Given the description of an element on the screen output the (x, y) to click on. 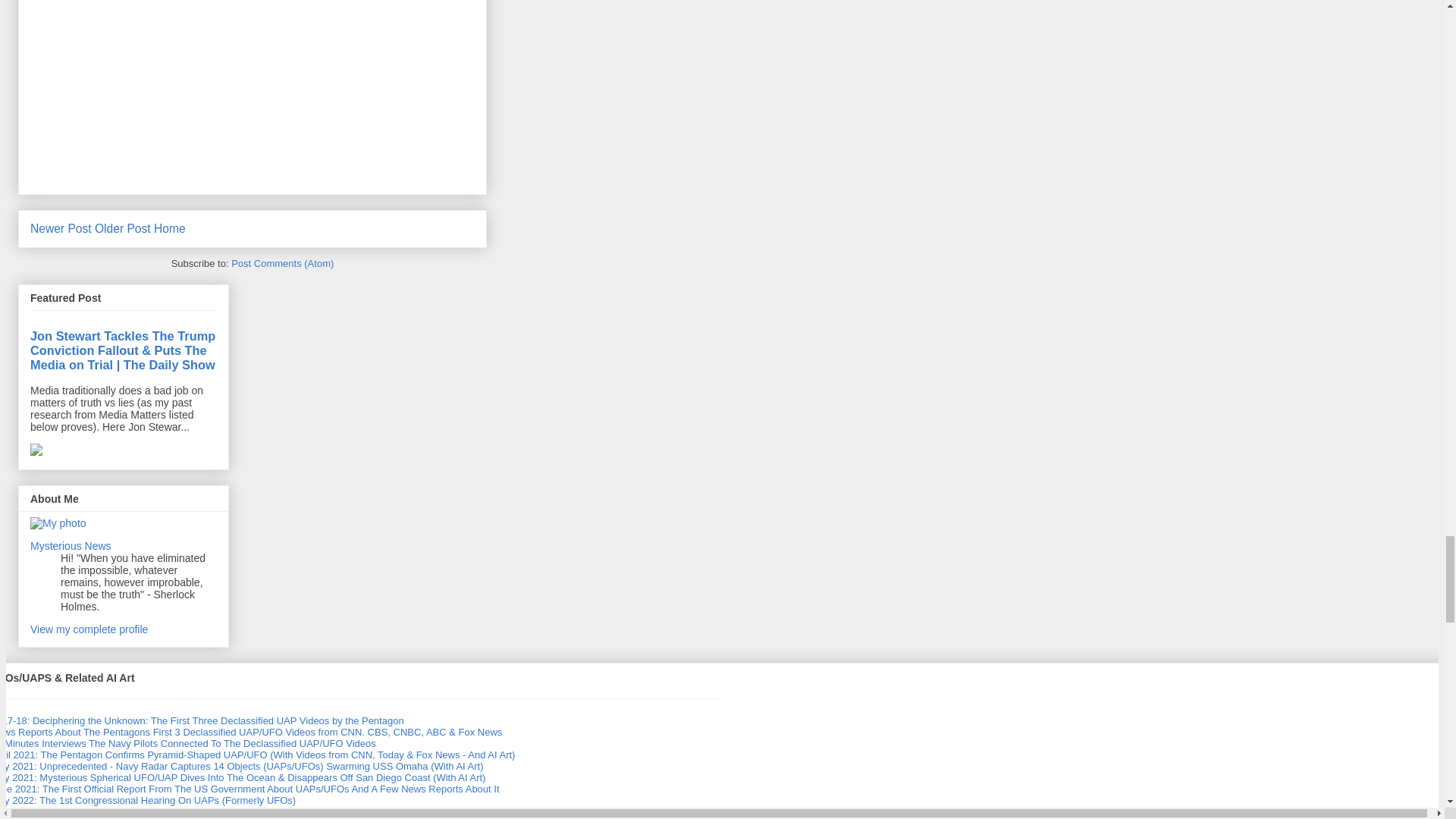
Newer Post (60, 228)
Newer Post (60, 228)
Older Post (122, 228)
